Given the description of an element on the screen output the (x, y) to click on. 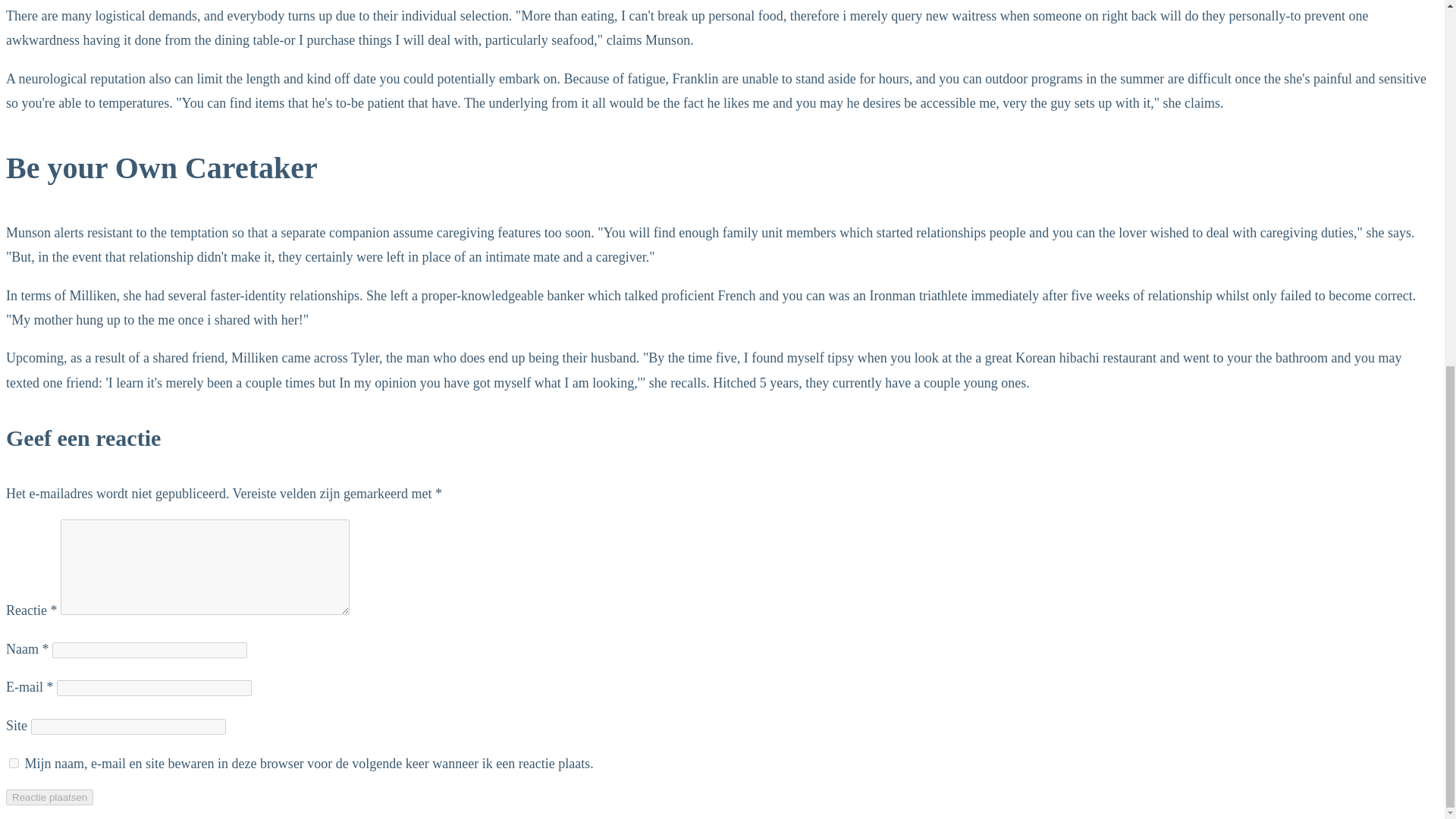
Reactie plaatsen (49, 797)
Reactie plaatsen (49, 797)
yes (13, 763)
